Given the description of an element on the screen output the (x, y) to click on. 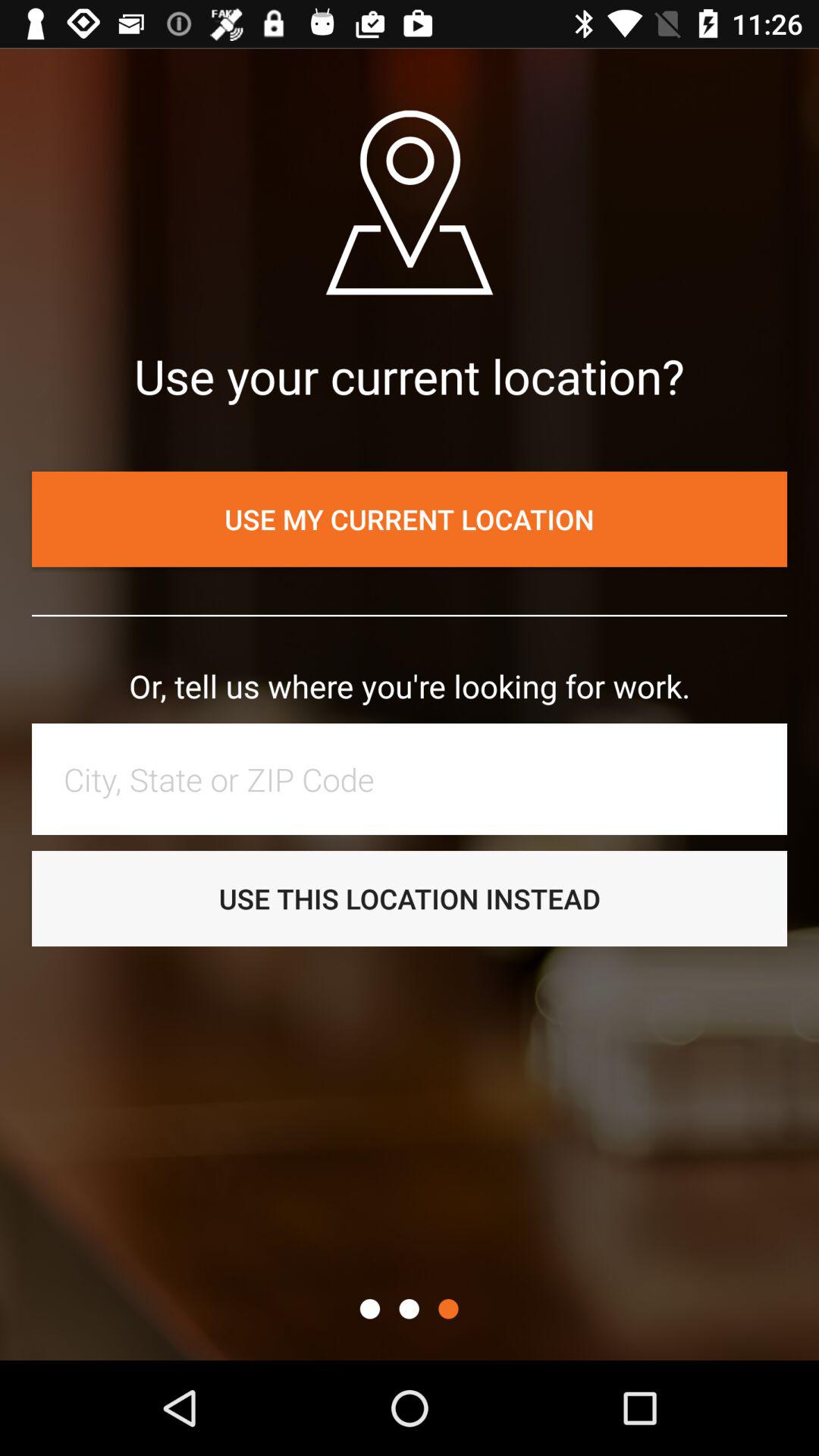
enter location (417, 778)
